Given the description of an element on the screen output the (x, y) to click on. 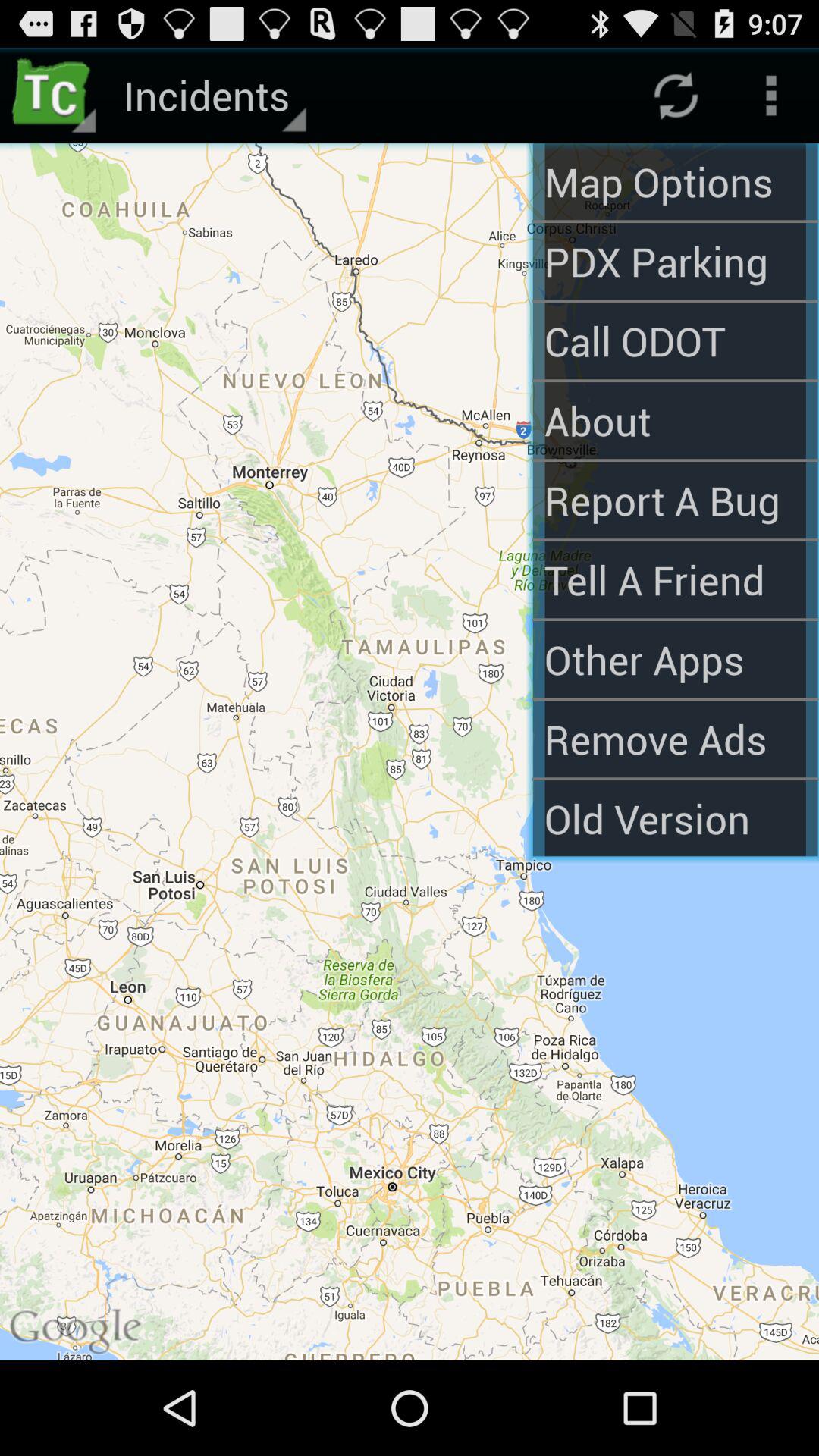
scroll to the report a bug icon (675, 499)
